Given the description of an element on the screen output the (x, y) to click on. 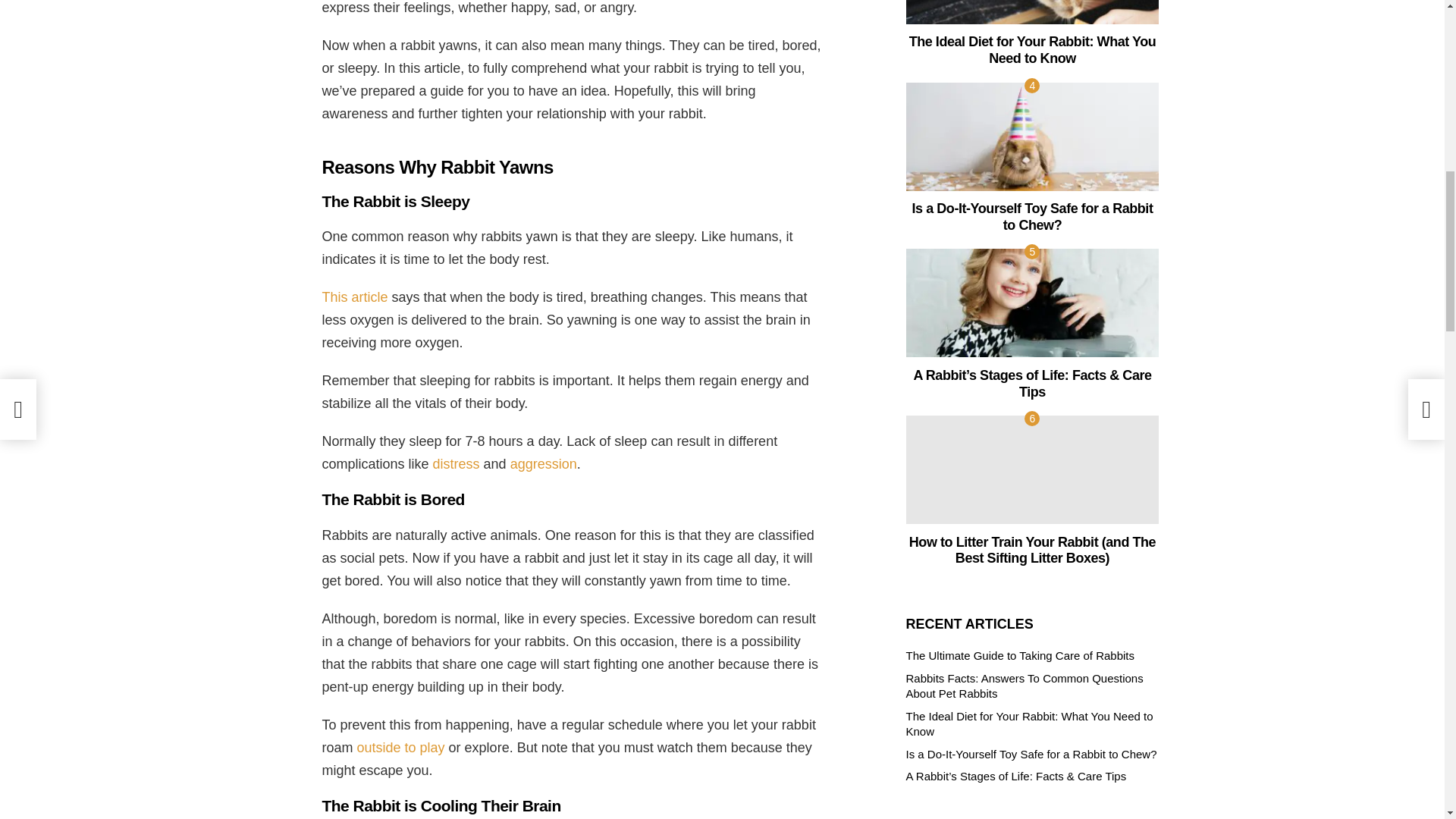
Is a Do-It-Yourself Toy Safe for a Rabbit to Chew? (1031, 136)
outside to play (400, 747)
The Ideal Diet for Your Rabbit: What You Need to Know (1031, 12)
aggression (543, 463)
distress (456, 463)
This article (354, 296)
